Given the description of an element on the screen output the (x, y) to click on. 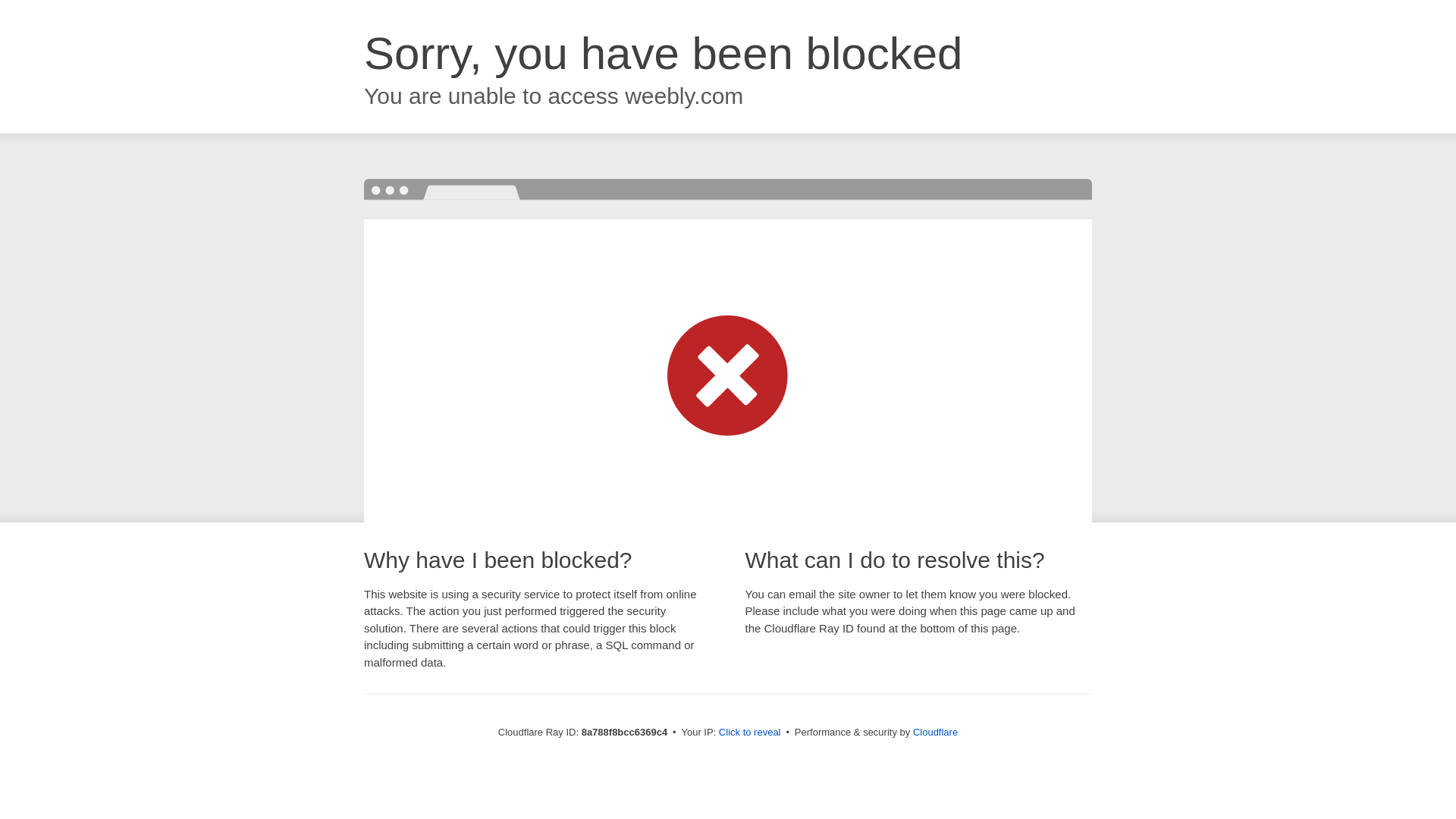
Click to reveal (749, 732)
Cloudflare (935, 731)
